Given the description of an element on the screen output the (x, y) to click on. 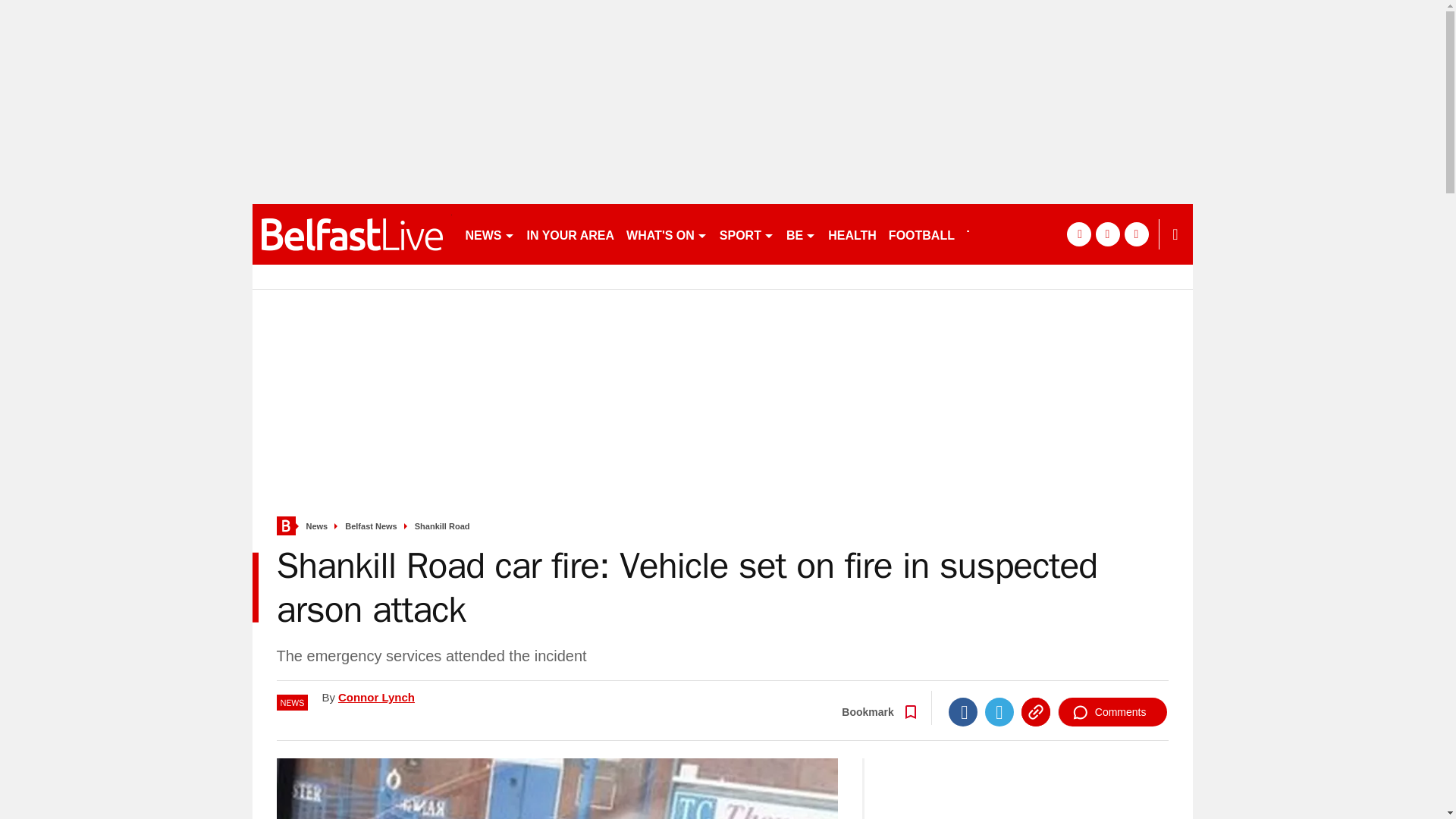
Comments (1112, 711)
facebook (1077, 233)
IN YOUR AREA (569, 233)
Twitter (999, 711)
belfastlive (351, 233)
Facebook (962, 711)
NEWS (490, 233)
instagram (1136, 233)
twitter (1106, 233)
WHAT'S ON (666, 233)
SPORT (746, 233)
